Given the description of an element on the screen output the (x, y) to click on. 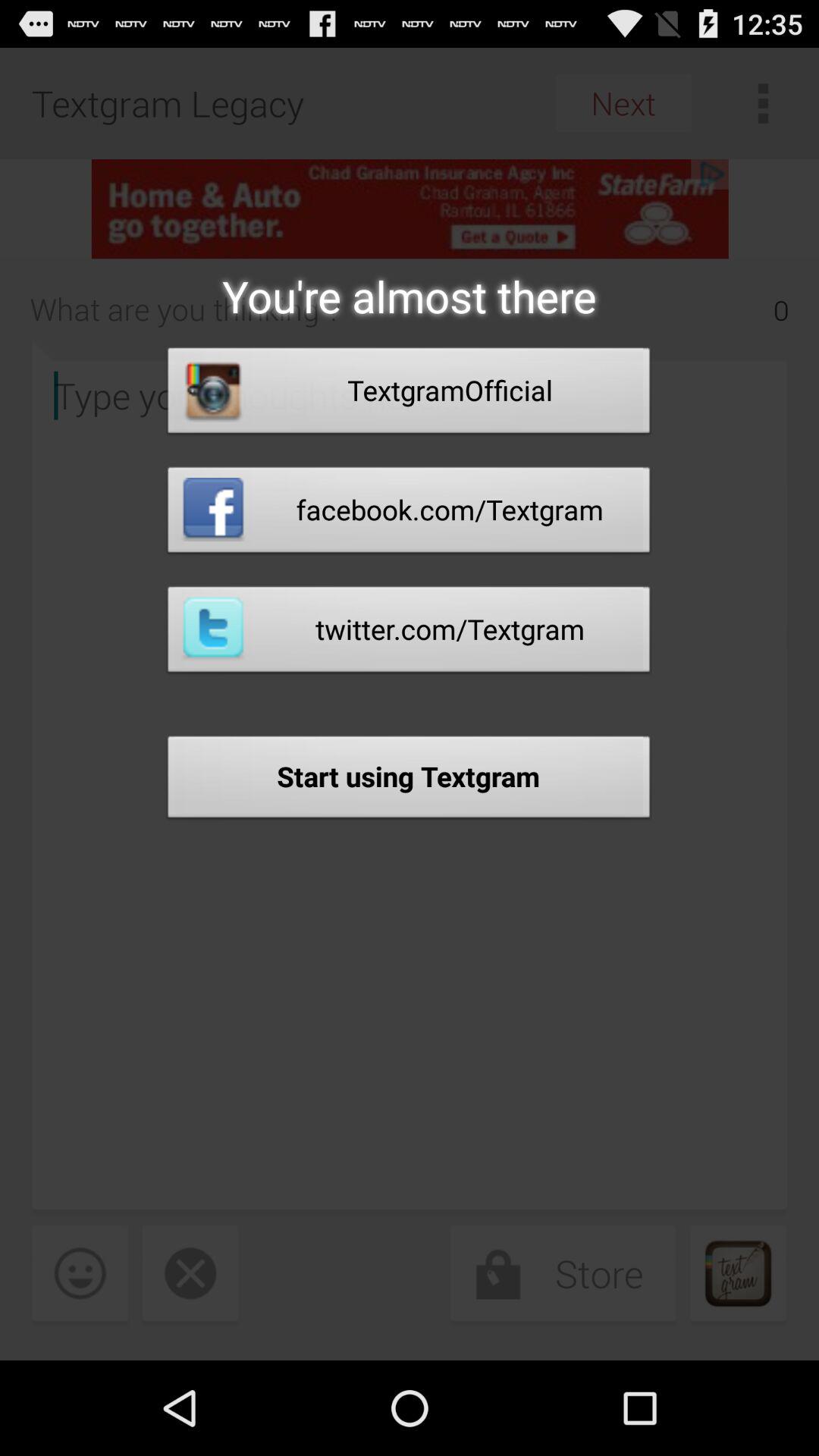
turn off the start using textgram (409, 781)
